Given the description of an element on the screen output the (x, y) to click on. 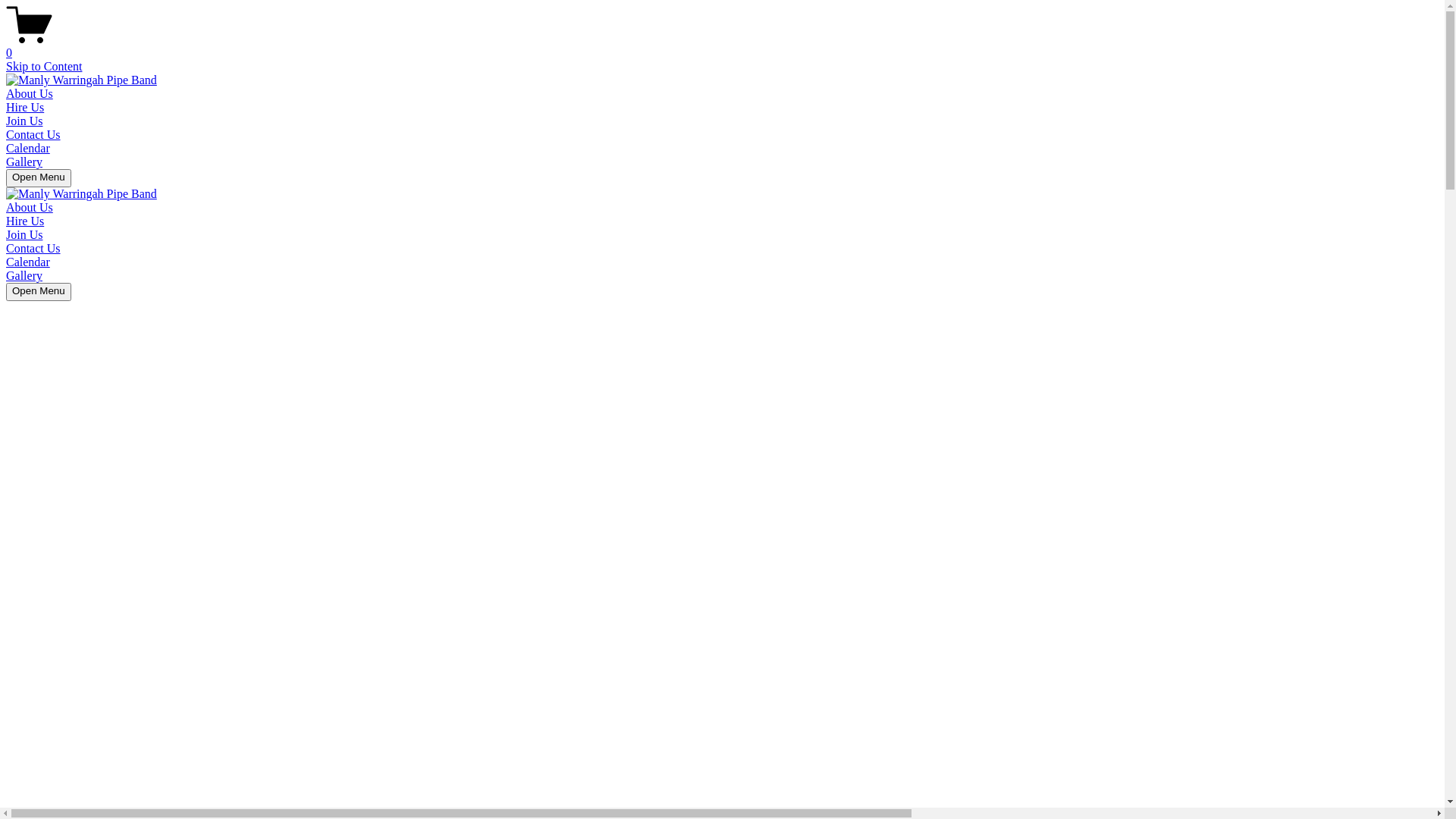
About Us Element type: text (29, 206)
Calendar Element type: text (28, 261)
Hire Us Element type: text (24, 220)
Contact Us Element type: text (33, 134)
Contact Us Element type: text (33, 247)
Calendar Element type: text (28, 147)
Open Menu Element type: text (38, 291)
Gallery Element type: text (24, 275)
Join Us Element type: text (24, 120)
Hire Us Element type: text (24, 106)
Skip to Content Element type: text (43, 65)
About Us Element type: text (29, 93)
Join Us Element type: text (24, 234)
0 Element type: text (722, 45)
Open Menu Element type: text (38, 178)
Gallery Element type: text (24, 161)
